Given the description of an element on the screen output the (x, y) to click on. 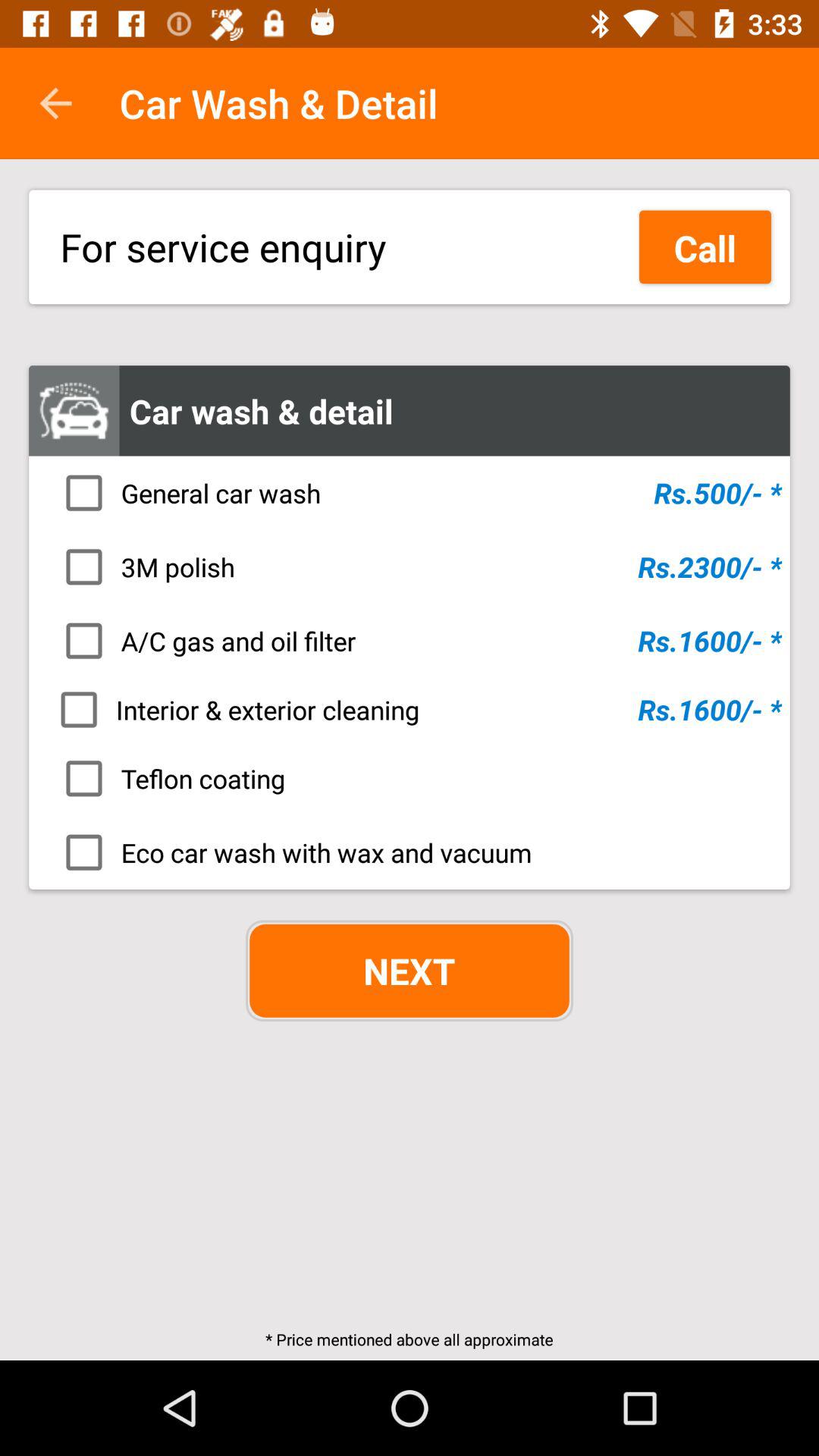
flip until the teflon coating item (414, 778)
